Given the description of an element on the screen output the (x, y) to click on. 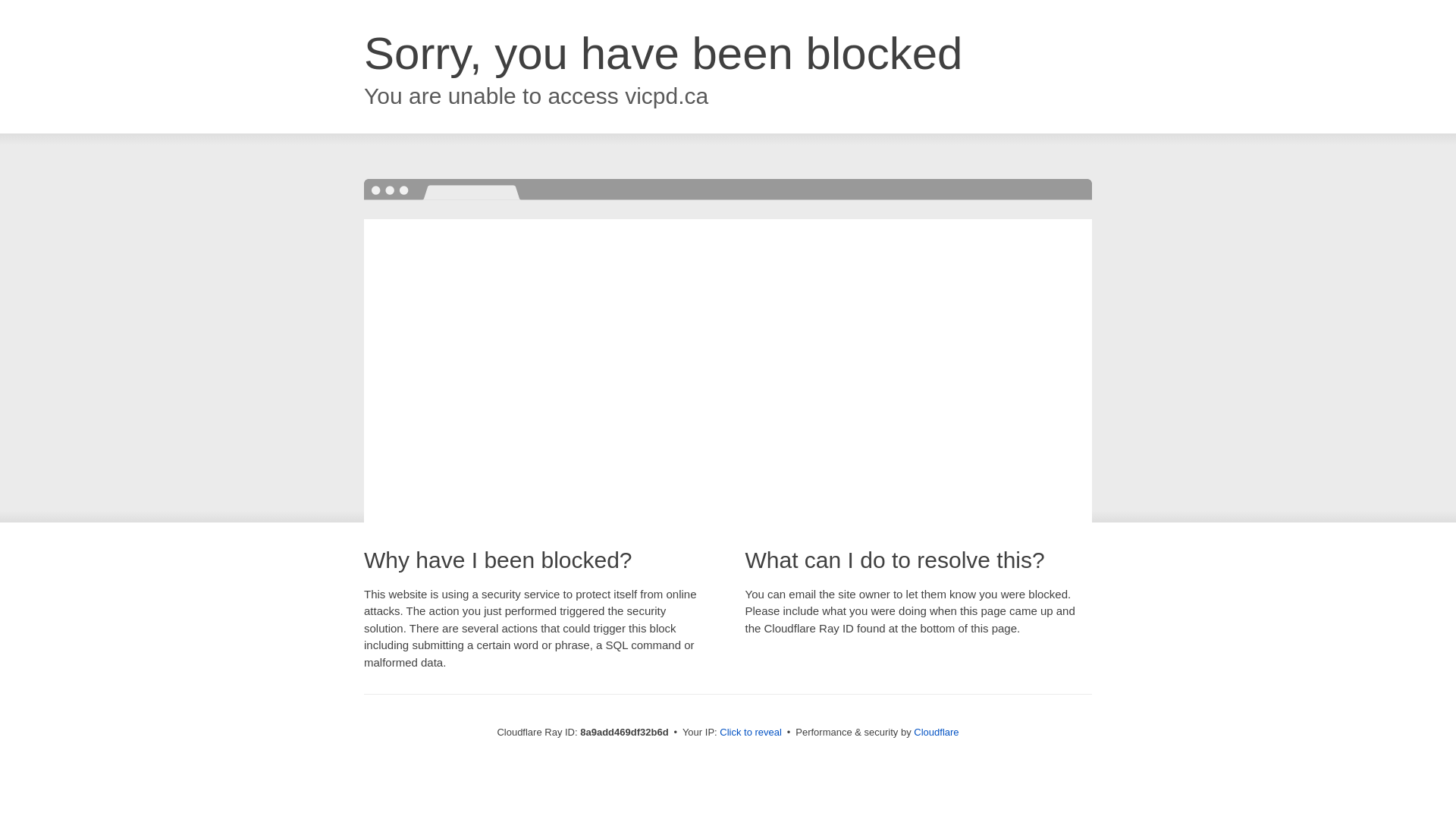
Cloudflare (936, 731)
Click to reveal (750, 732)
